Given the description of an element on the screen output the (x, y) to click on. 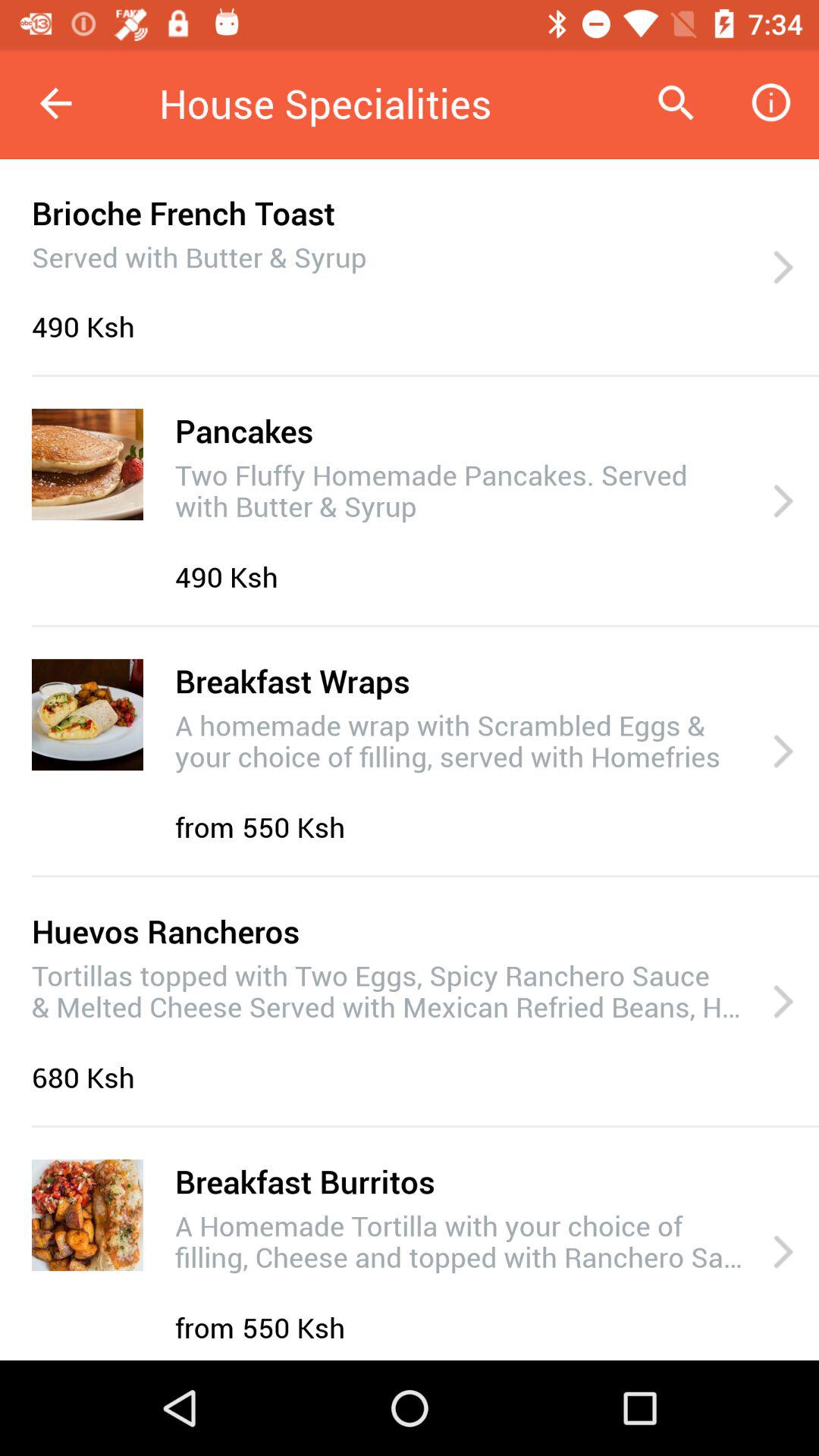
launch two fluffy homemade icon (461, 489)
